Given the description of an element on the screen output the (x, y) to click on. 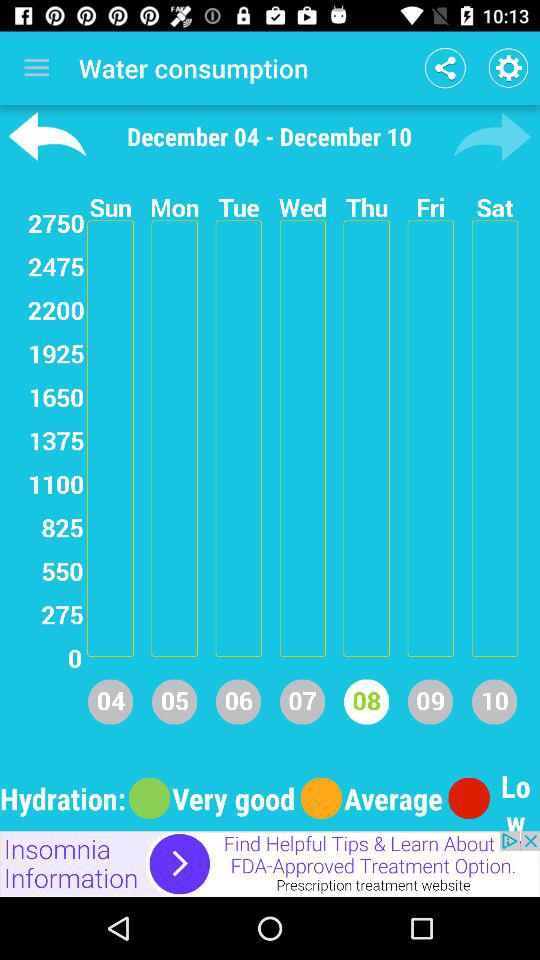
advertisement for insomnia information (270, 864)
